Given the description of an element on the screen output the (x, y) to click on. 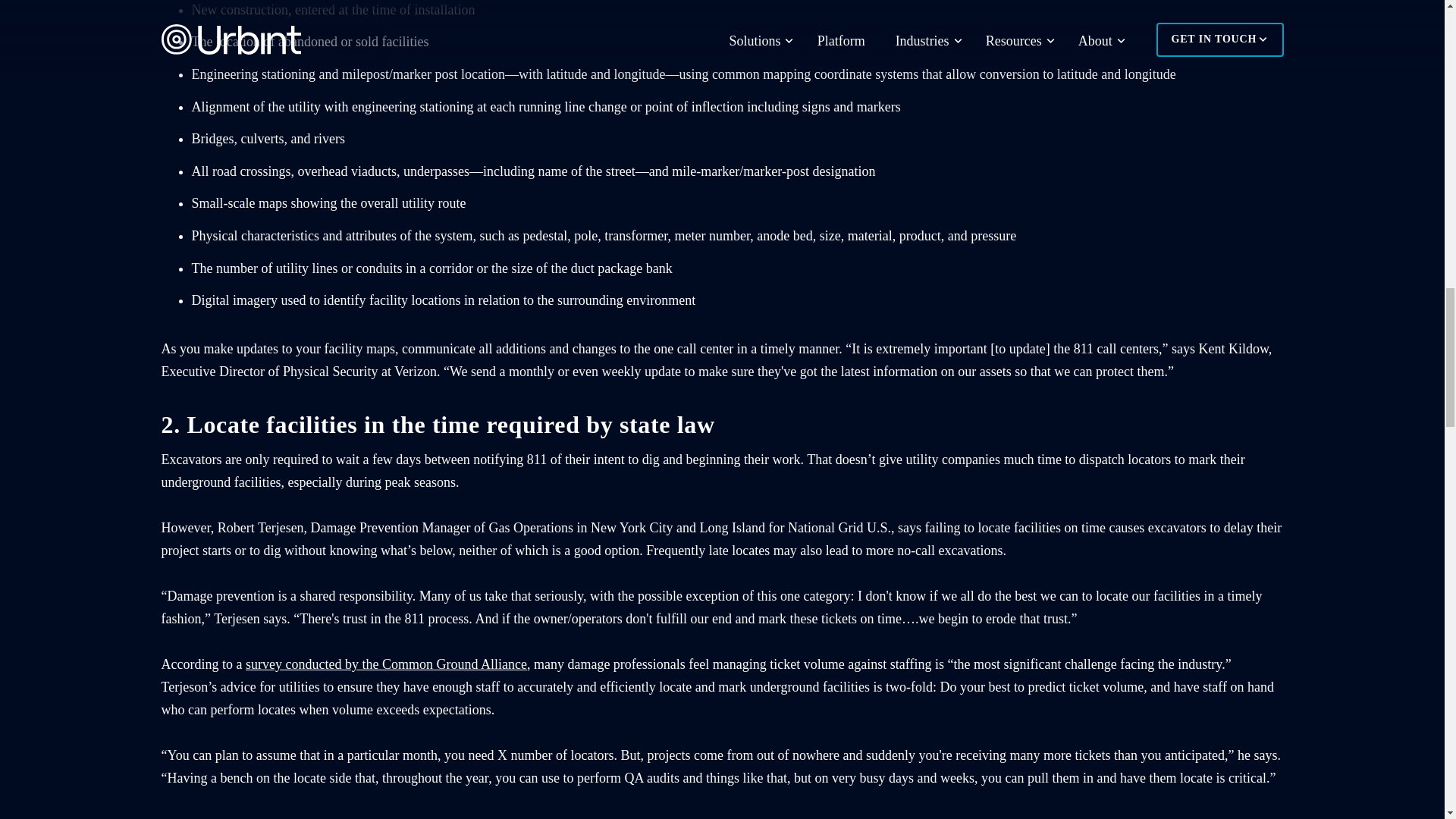
survey conducted by the Common Ground Alliance (386, 663)
